Given the description of an element on the screen output the (x, y) to click on. 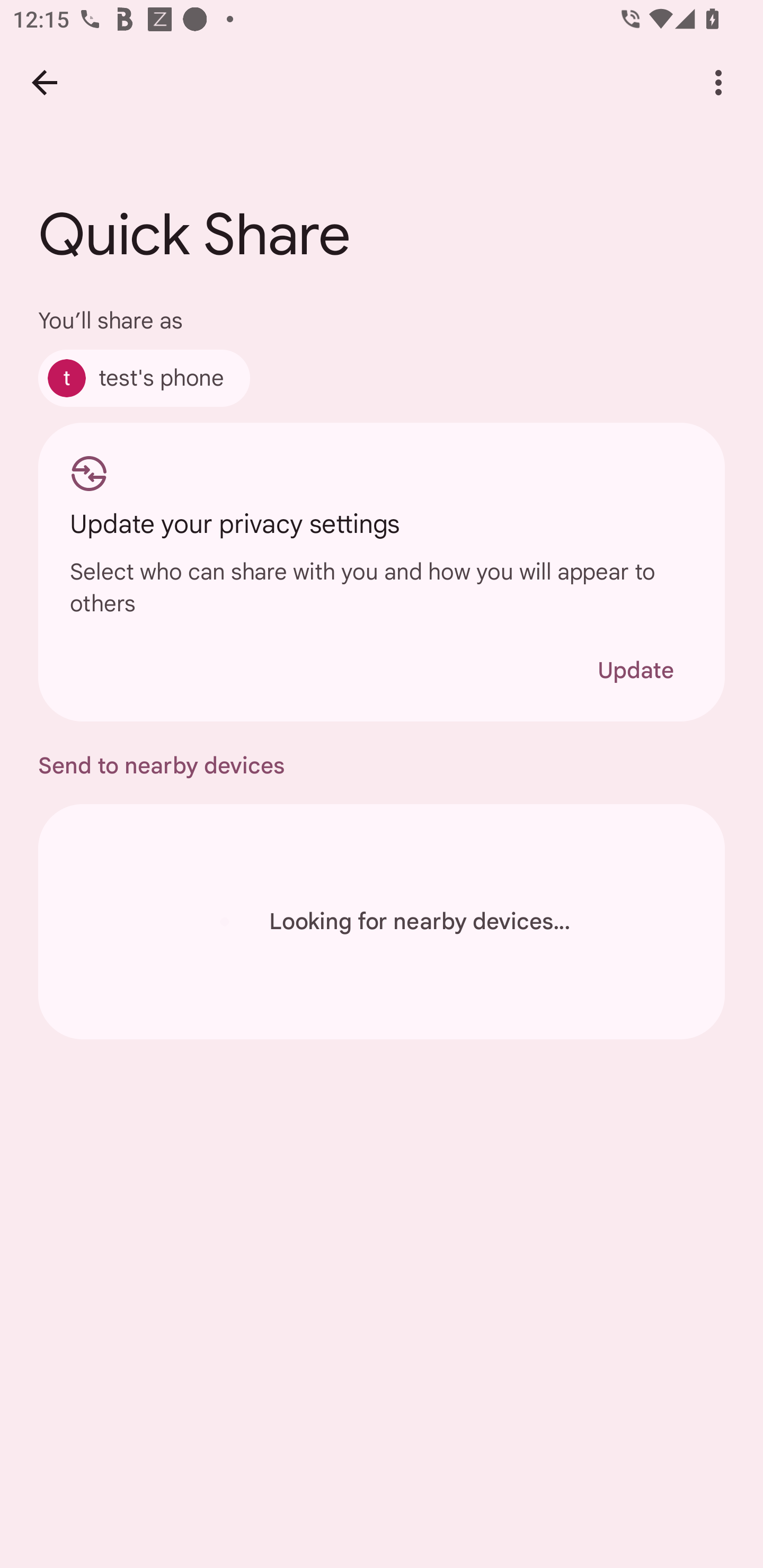
Back (44, 81)
More (718, 81)
test's phone (144, 378)
Update (635, 669)
